Given the description of an element on the screen output the (x, y) to click on. 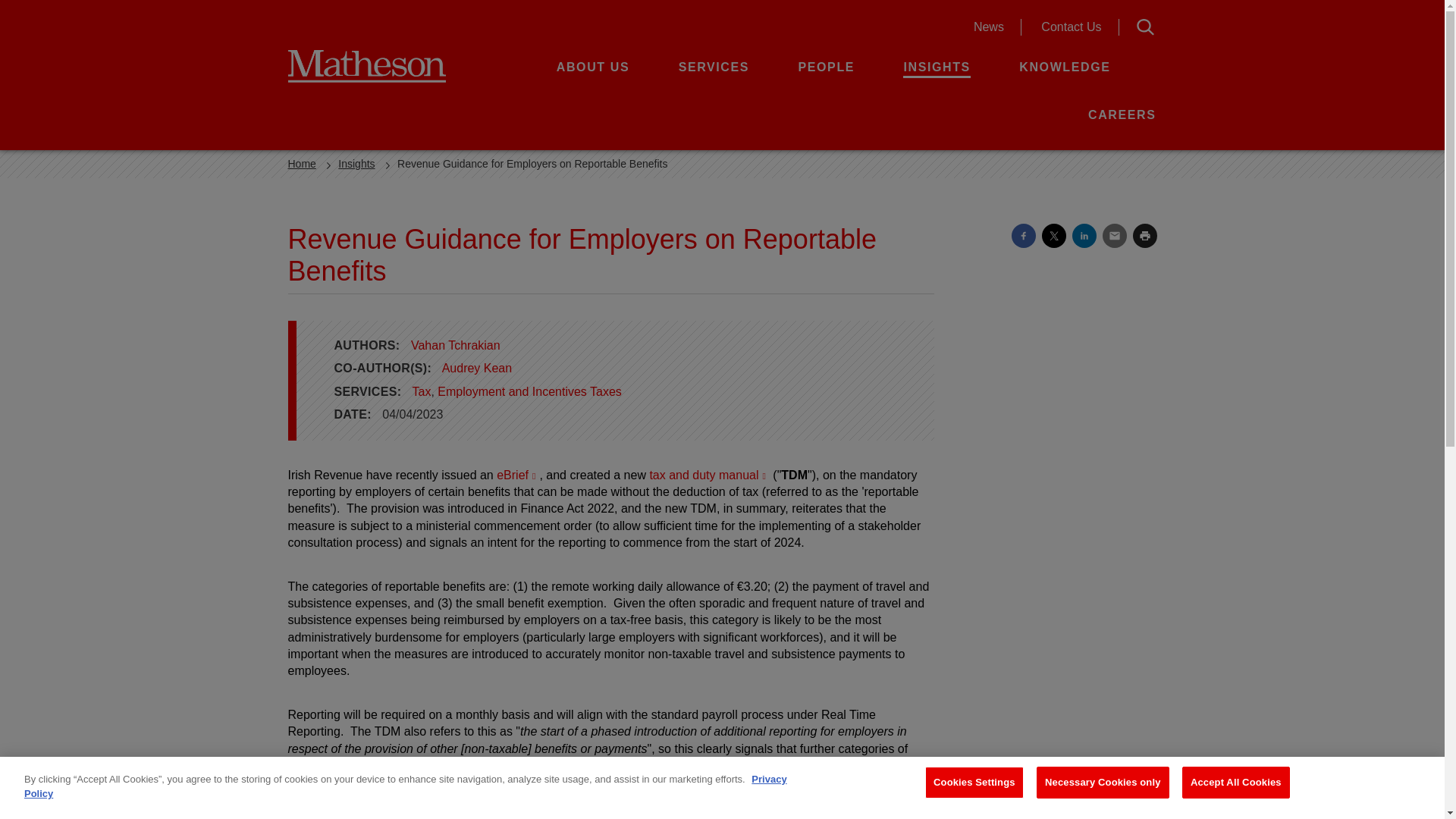
Home (301, 163)
Employment and Incentives Taxes (529, 391)
PEOPLE (826, 66)
CAREERS (1121, 114)
Contact Us (1070, 26)
Insights (355, 163)
Vahan Tchrakian (708, 474)
Matheson Logo (455, 345)
Tax (387, 65)
